Given the description of an element on the screen output the (x, y) to click on. 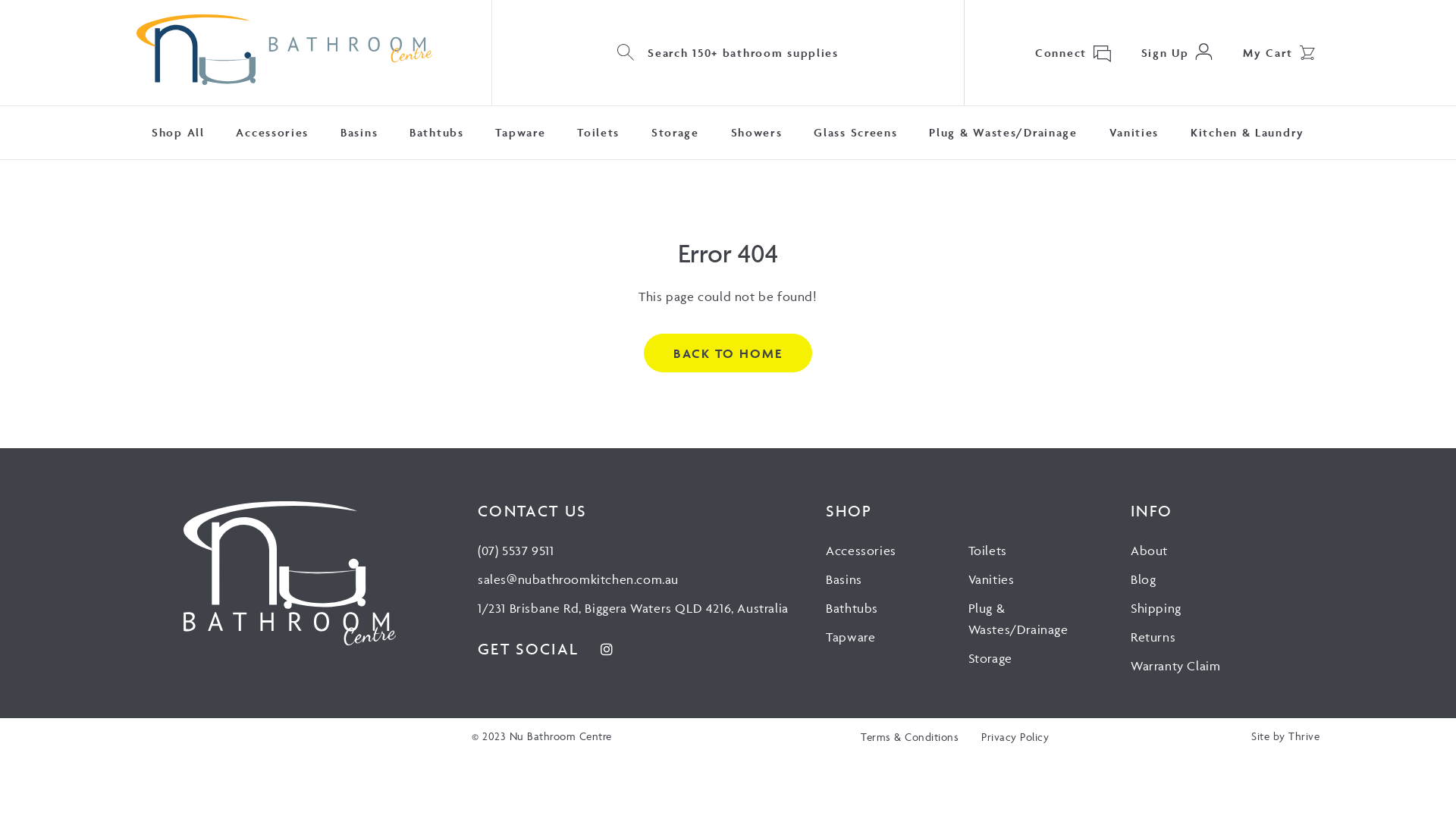
Storage Element type: text (675, 132)
Warranty Claim Element type: text (1175, 665)
Terms & Conditions Element type: text (909, 736)
Plug & Wastes/Drainage Element type: text (1002, 132)
Showers Element type: text (756, 132)
Toilets Element type: text (597, 132)
Tapware Element type: text (850, 636)
(07) 5537 9511 Element type: text (515, 550)
Bathtubs Element type: text (851, 607)
Tapware Element type: text (520, 132)
Thrive Element type: text (1303, 735)
Vanities Element type: text (991, 578)
Toilets Element type: text (987, 550)
Returns Element type: text (1152, 636)
Glass Screens Element type: text (855, 132)
Basins Element type: text (843, 578)
Connect Element type: text (1060, 52)
Vanities Element type: text (1134, 132)
Sign Up Element type: text (1165, 52)
Shop All Element type: text (177, 132)
BACK TO HOME Element type: text (727, 352)
Kitchen & Laundry Element type: text (1247, 132)
Accessories Element type: text (271, 132)
About Element type: text (1148, 550)
Accessories Element type: text (860, 550)
Basins Element type: text (358, 132)
Bathtubs Element type: text (436, 132)
Plug & Wastes/Drainage Element type: text (1018, 618)
Privacy Policy Element type: text (1014, 736)
Blog Element type: text (1142, 578)
My Cart Element type: text (1267, 52)
sales@nubathroomkitchen.com.au Element type: text (577, 578)
Storage Element type: text (990, 657)
Shipping Element type: text (1155, 607)
